Given the description of an element on the screen output the (x, y) to click on. 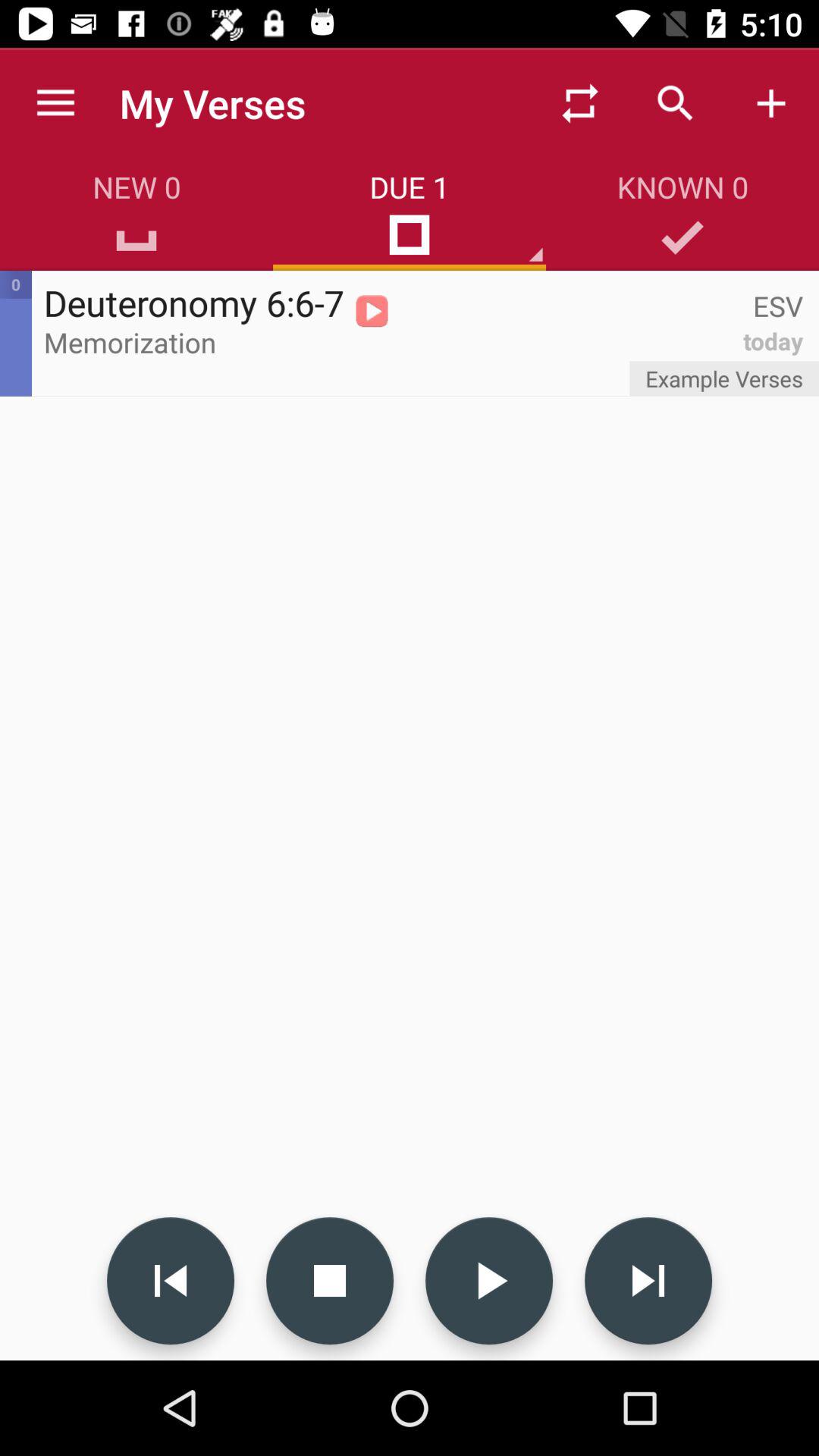
turn off icon above known 0 item (771, 103)
